Given the description of an element on the screen output the (x, y) to click on. 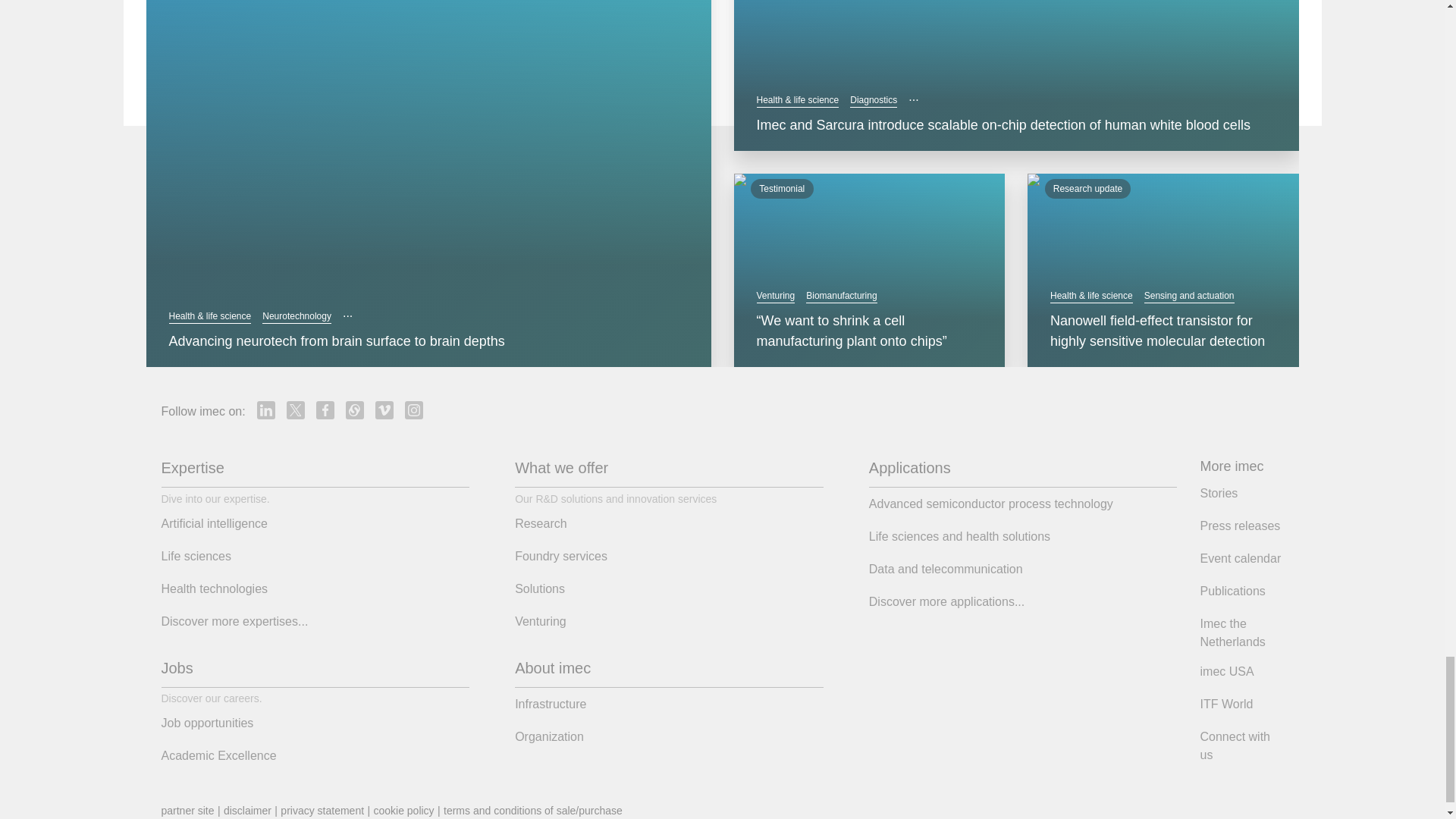
Vimeo (384, 411)
Instagram (413, 411)
X (295, 411)
LinkedIn (266, 411)
Facebook (324, 411)
Swivle (355, 411)
